Given the description of an element on the screen output the (x, y) to click on. 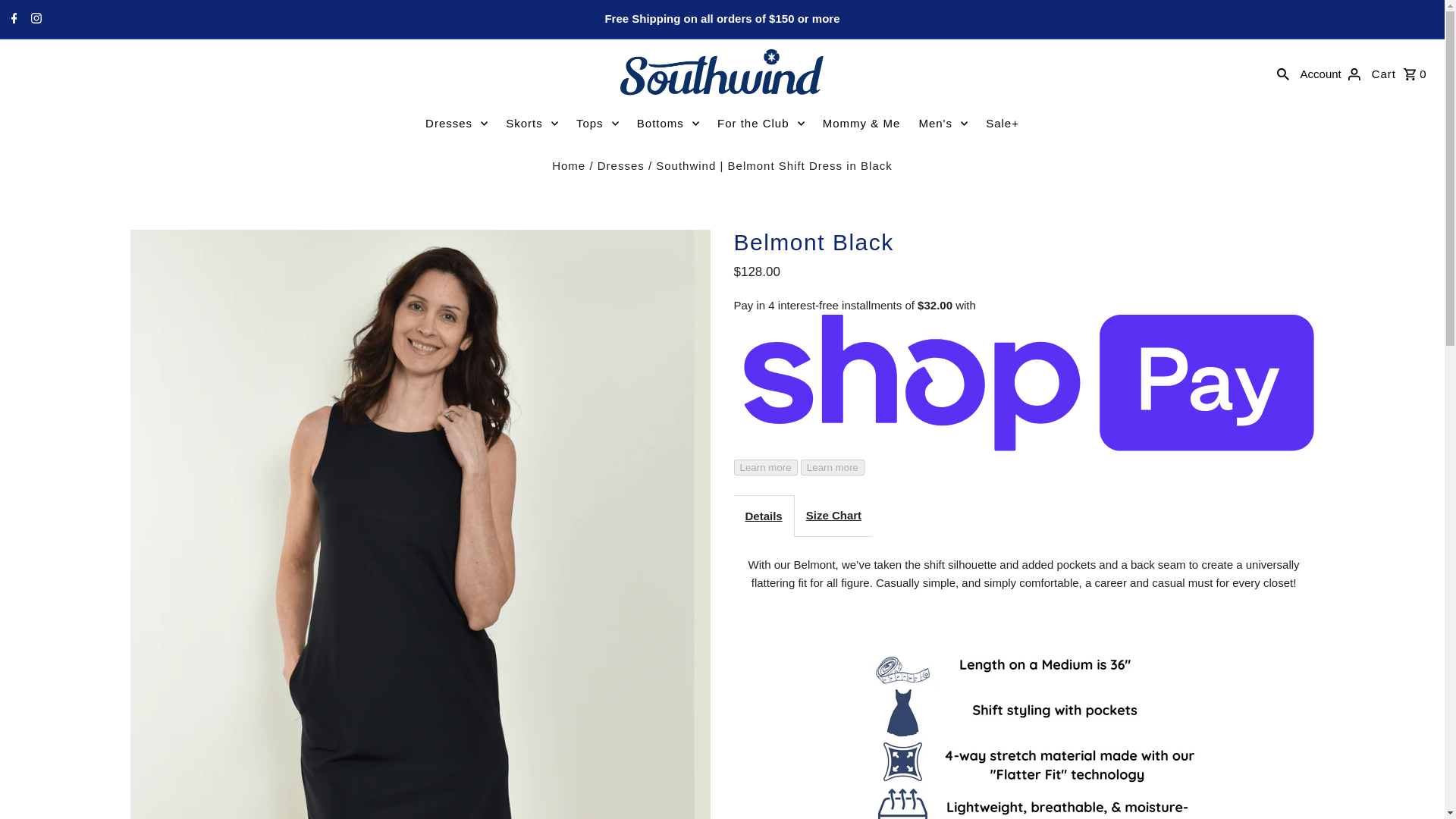
Dresses (620, 164)
Home (568, 164)
Dresses (456, 123)
